Given the description of an element on the screen output the (x, y) to click on. 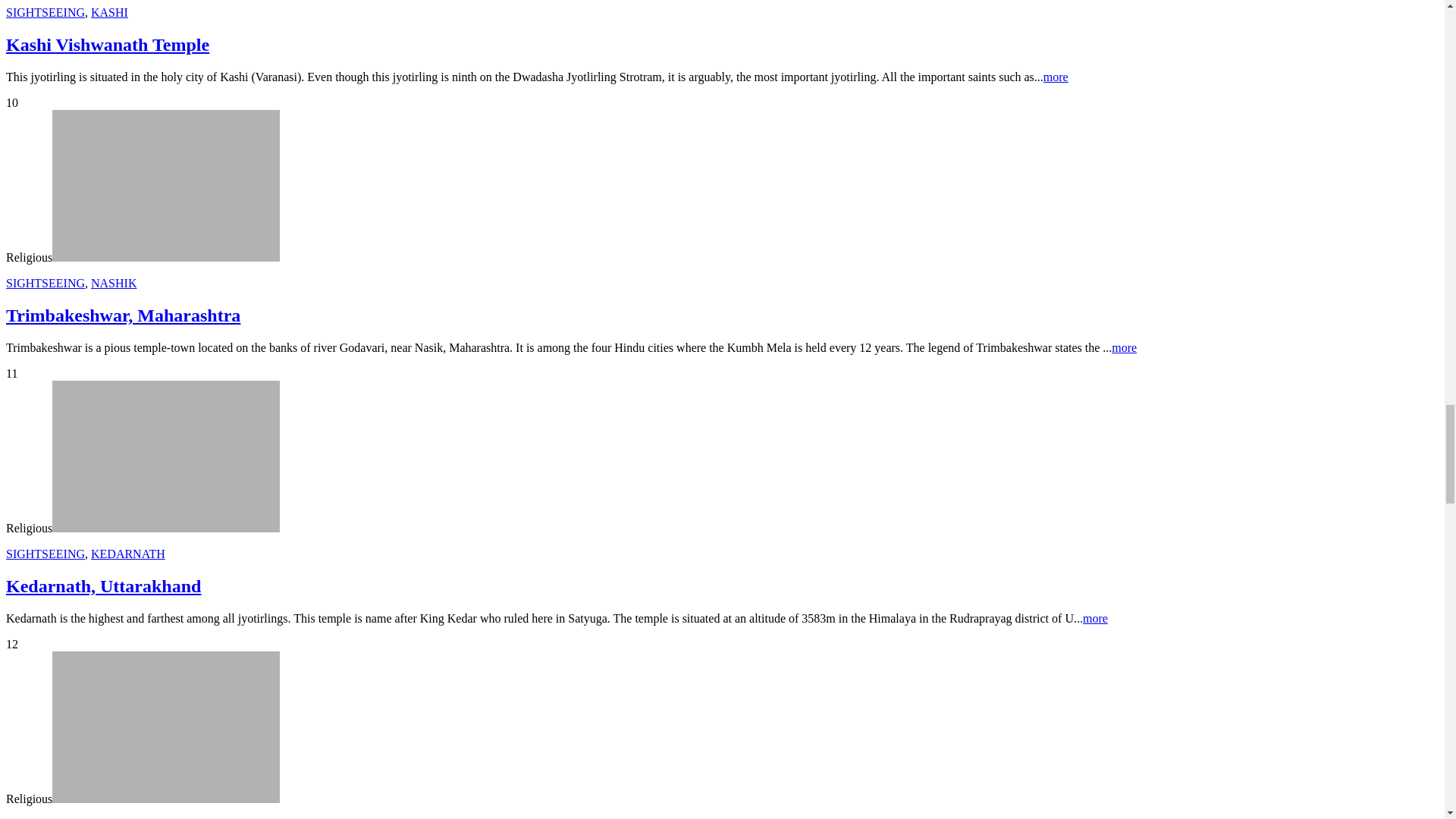
Trimbakeshwar, Maharashtra (165, 185)
Grishneshwar, Aurangabad (165, 727)
Kedarnath, Uttarakhand (165, 456)
